Given the description of an element on the screen output the (x, y) to click on. 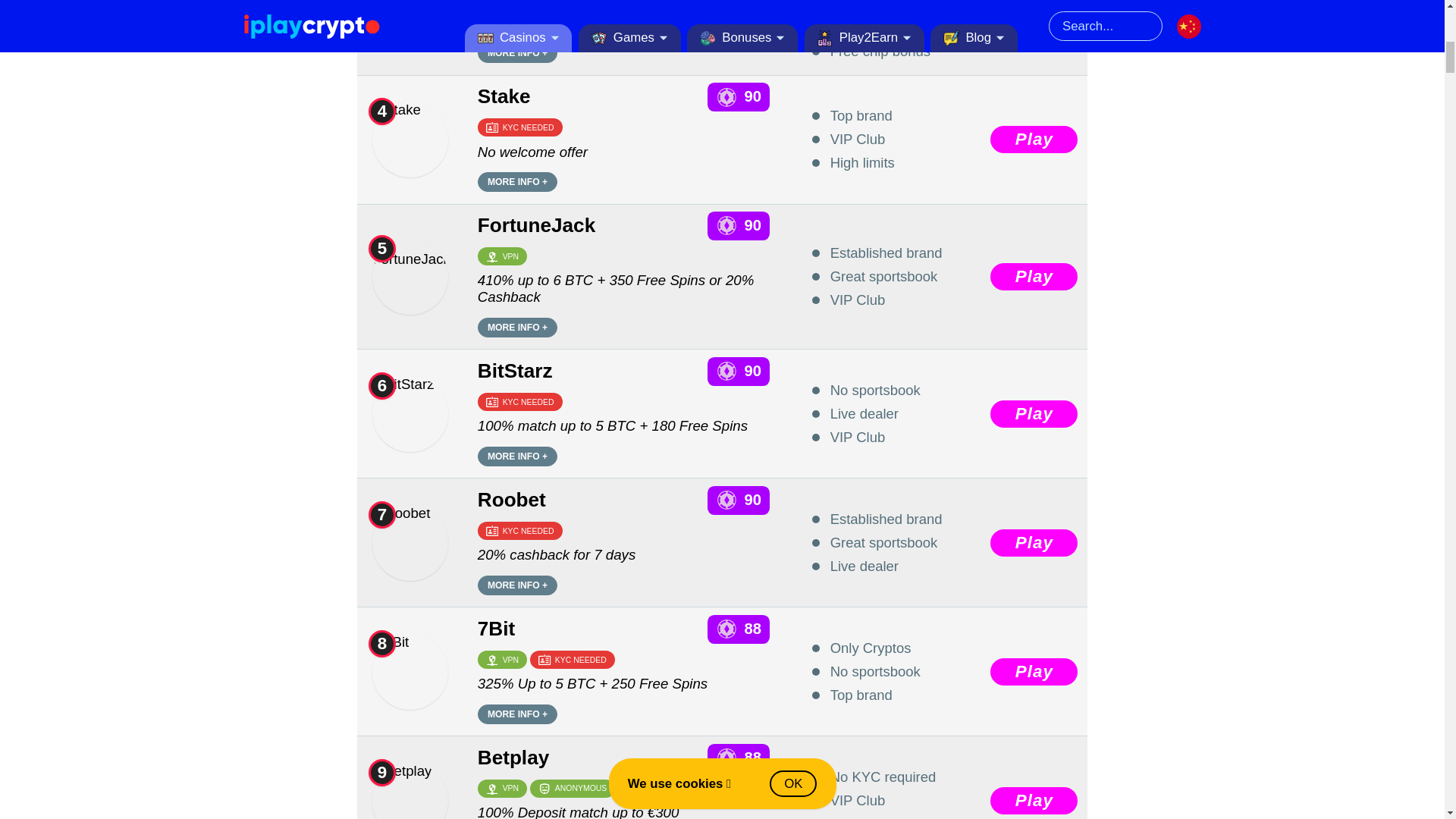
Casino of the Month (383, 0)
BetFury (410, 22)
Stake (410, 139)
